Given the description of an element on the screen output the (x, y) to click on. 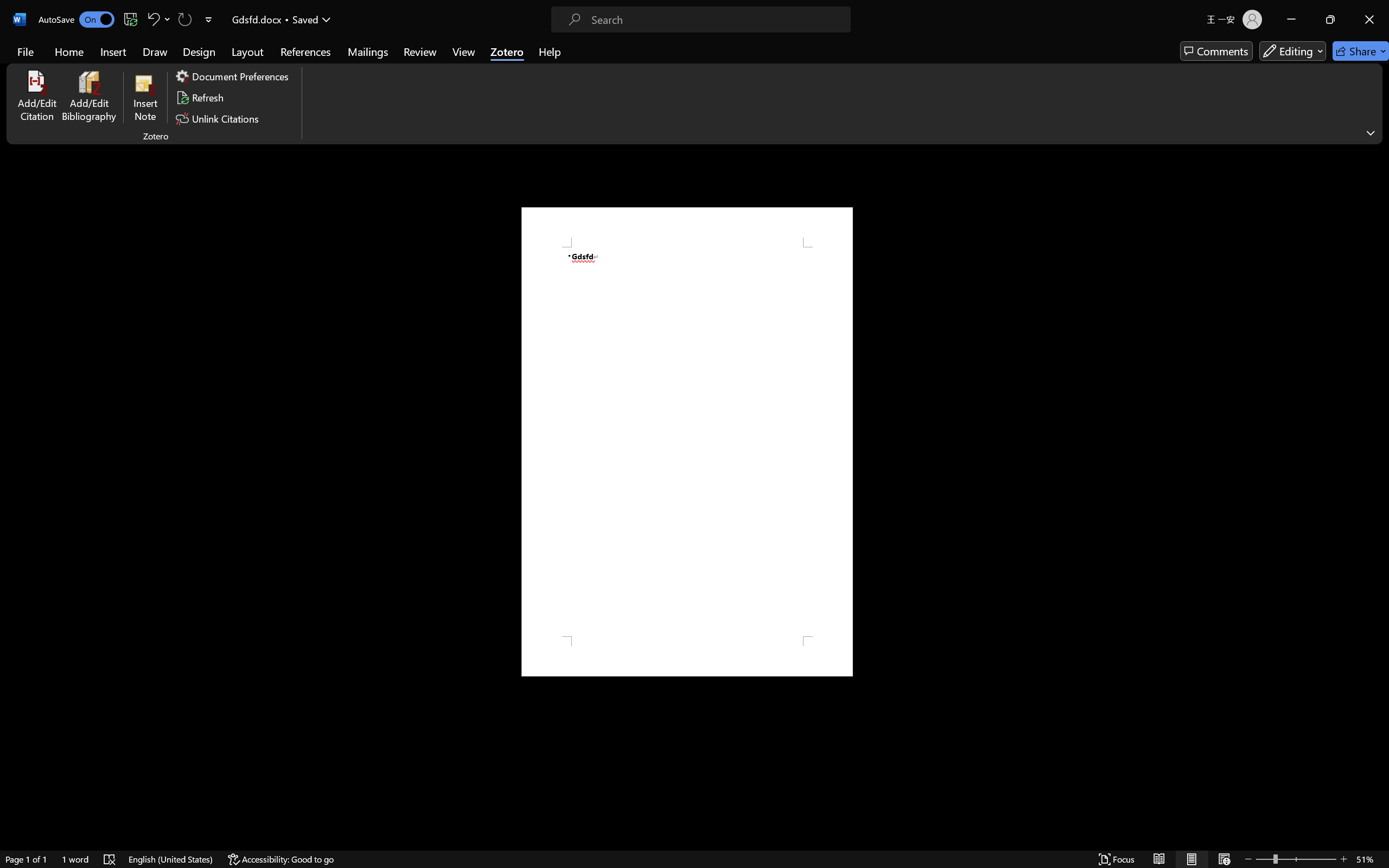
Account (38, 749)
Slides (549, 130)
Print (38, 239)
Export (38, 288)
Update License (38, 774)
Categories (549, 283)
Save As (38, 215)
Subject (549, 296)
Get Add-ins (38, 143)
Add an author (517, 478)
